Given the description of an element on the screen output the (x, y) to click on. 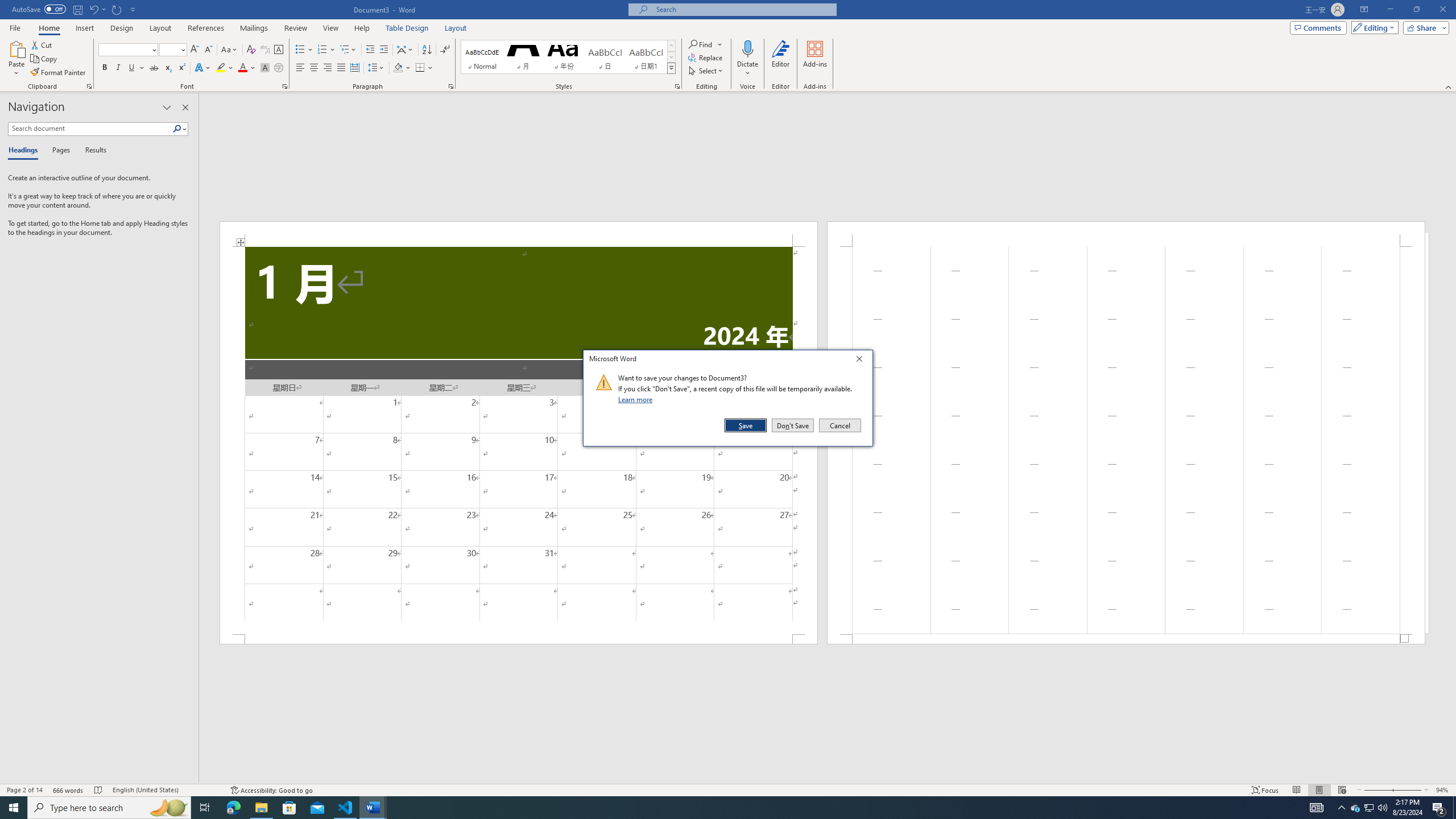
File Explorer - 1 running window (261, 807)
